Given the description of an element on the screen output the (x, y) to click on. 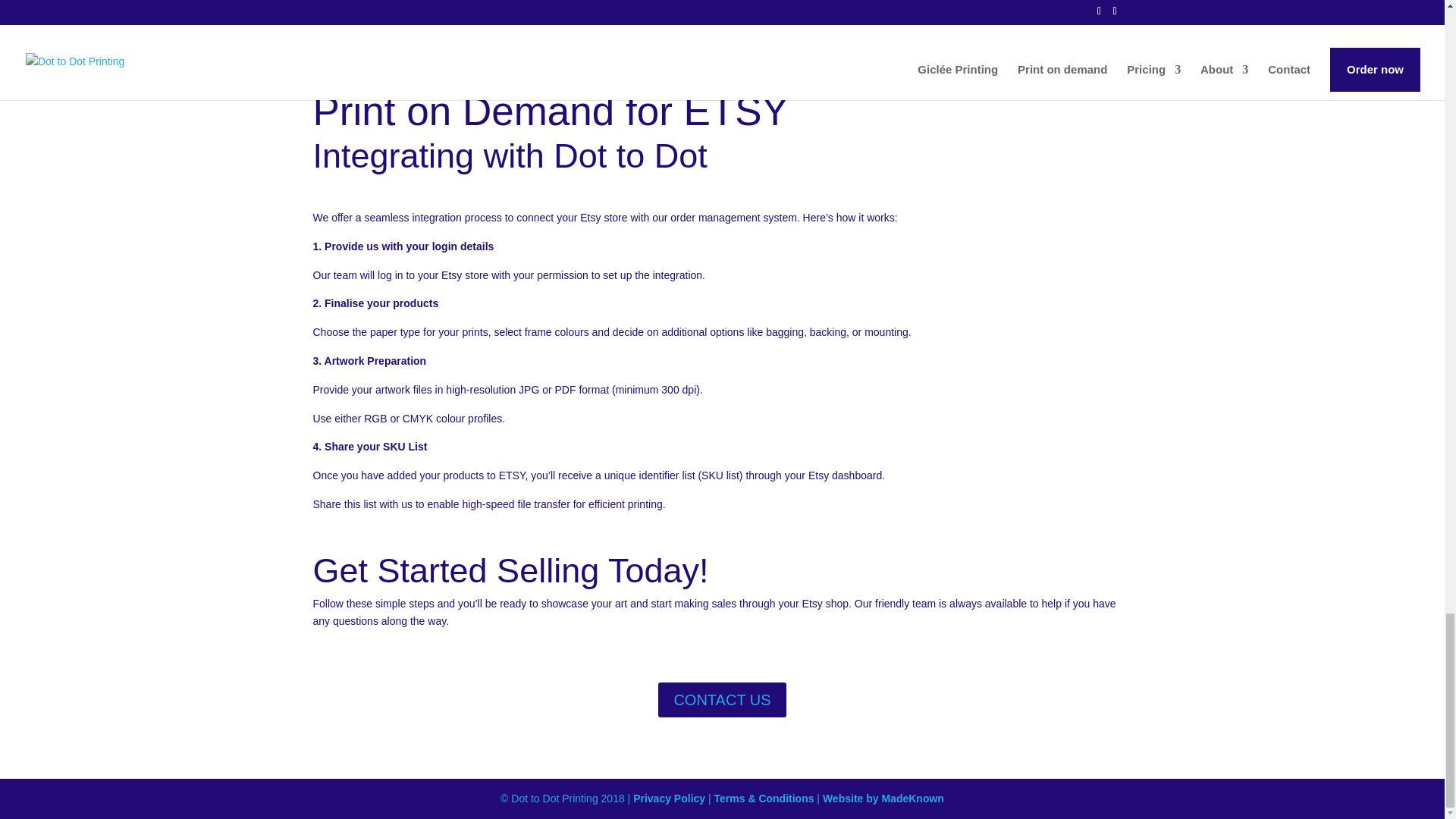
CONTACT US (722, 699)
Privacy Policy (668, 798)
Website by MadeKnown (882, 798)
